Given the description of an element on the screen output the (x, y) to click on. 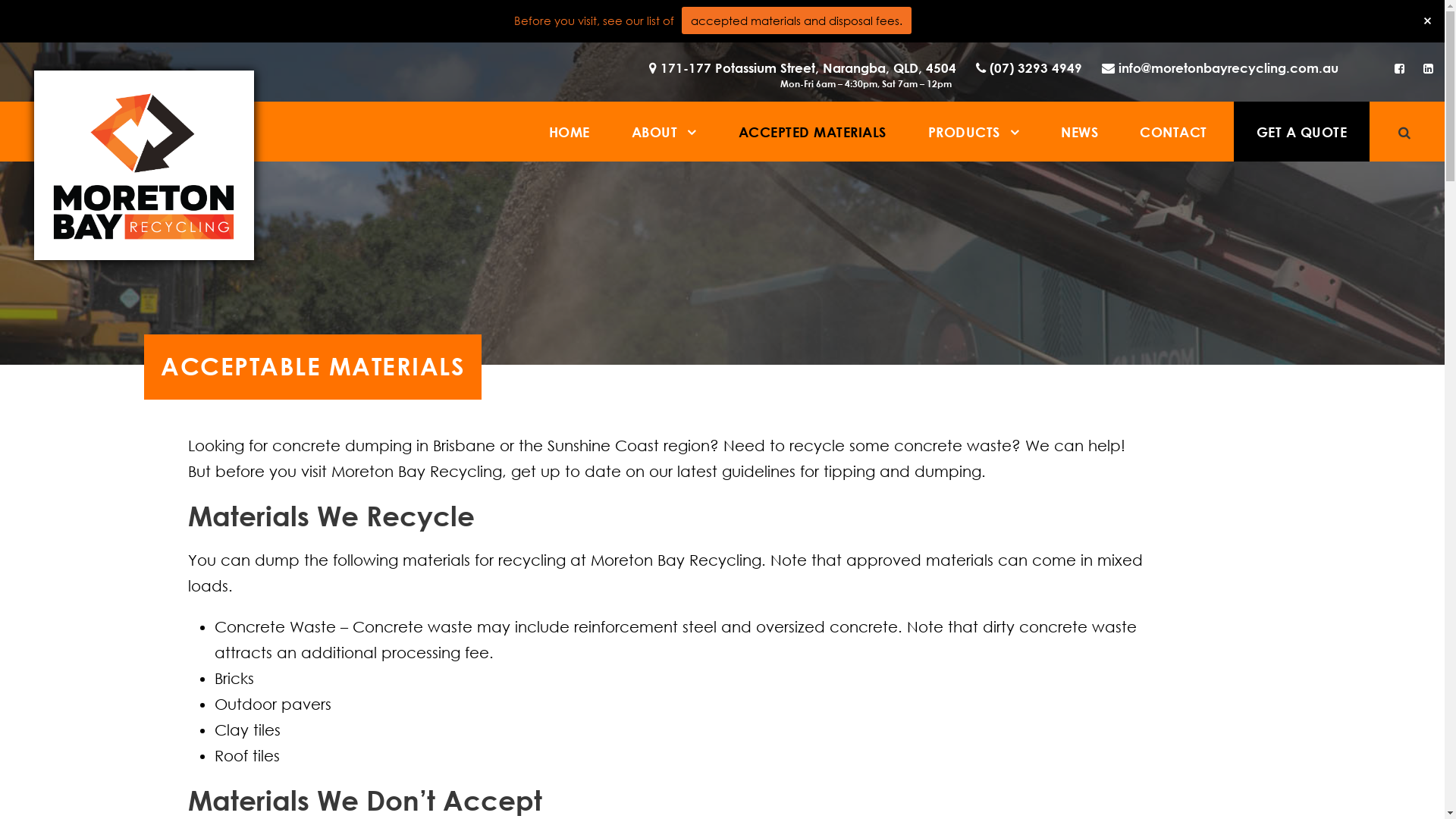
linkedin Element type: hover (1428, 67)
ACCEPTED MATERIALS Element type: text (812, 131)
PRODUCTS Element type: text (973, 131)
facebook Element type: hover (1399, 67)
GET A QUOTE Element type: text (1300, 131)
HOME Element type: text (569, 131)
CONTACT Element type: text (1173, 131)
accepted materials and disposal fees. Element type: text (796, 20)
(07) 3293 4949 Element type: text (1025, 75)
NEWS Element type: text (1079, 131)
info@moretonbayrecycling.com.au Element type: text (1216, 75)
ABOUT Element type: text (663, 131)
